Given the description of an element on the screen output the (x, y) to click on. 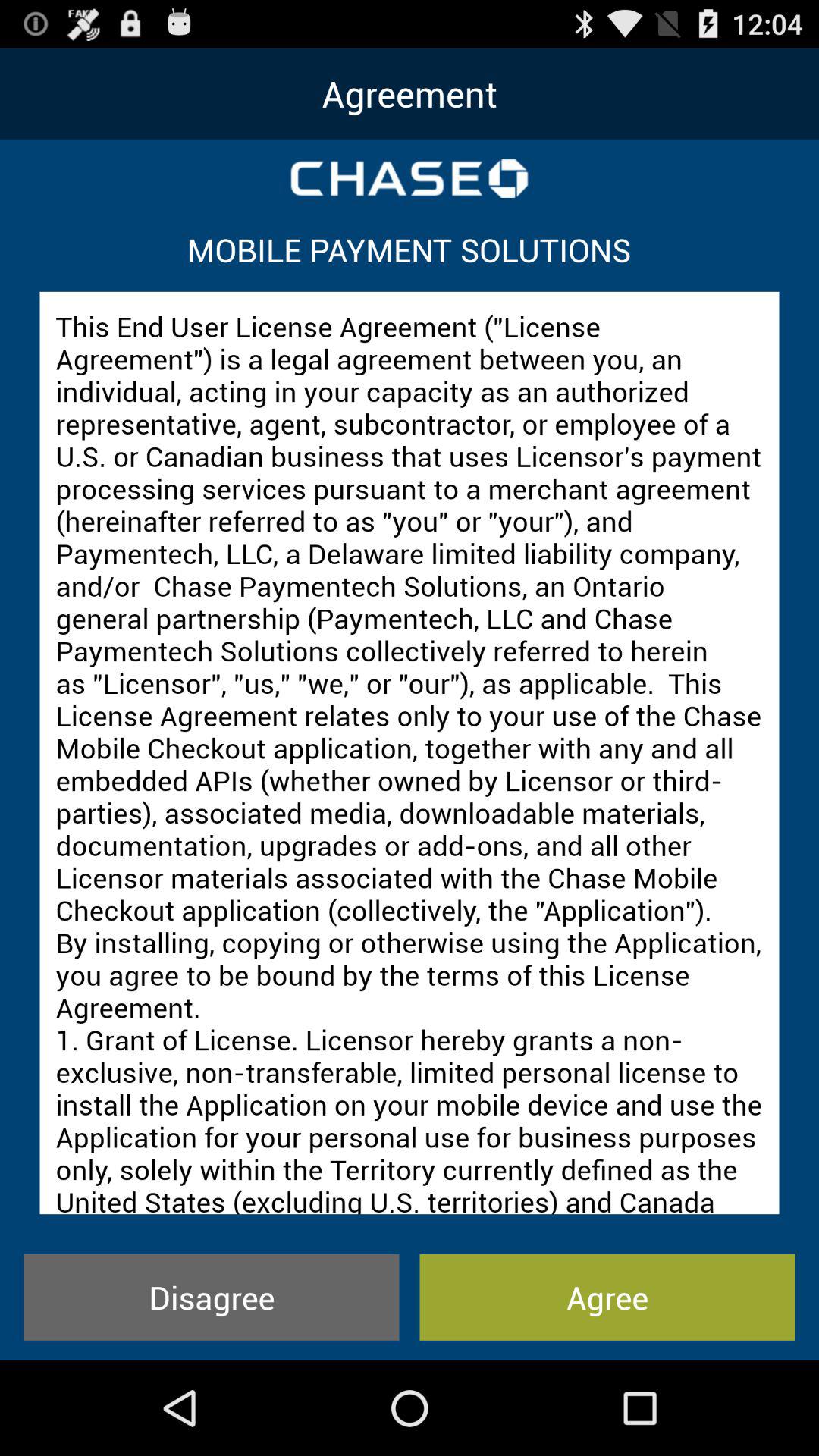
choose item at the bottom right corner (607, 1297)
